Given the description of an element on the screen output the (x, y) to click on. 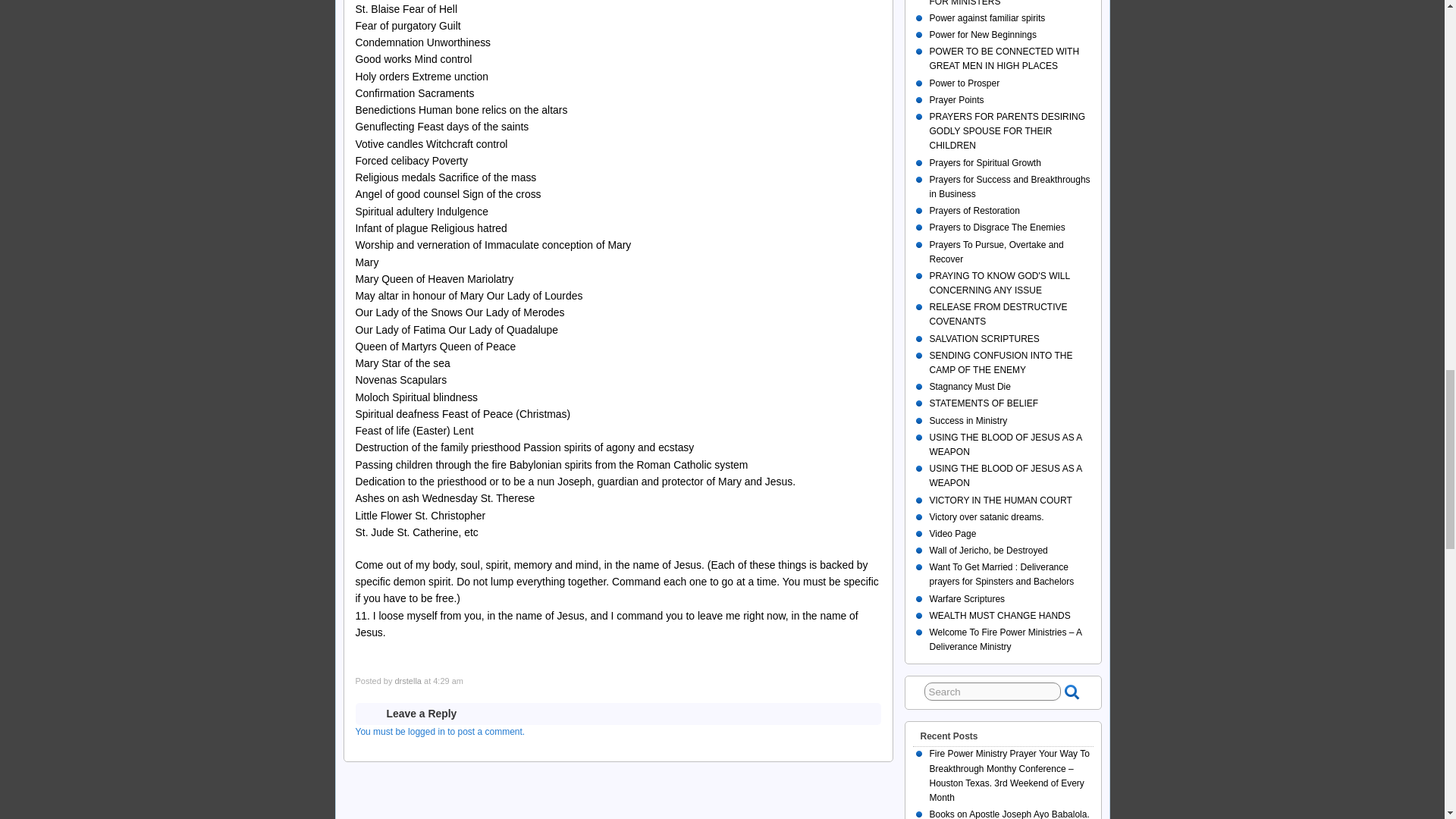
Search (992, 691)
Search (992, 691)
You must be logged in to post a comment. (439, 731)
drstella (407, 680)
